Given the description of an element on the screen output the (x, y) to click on. 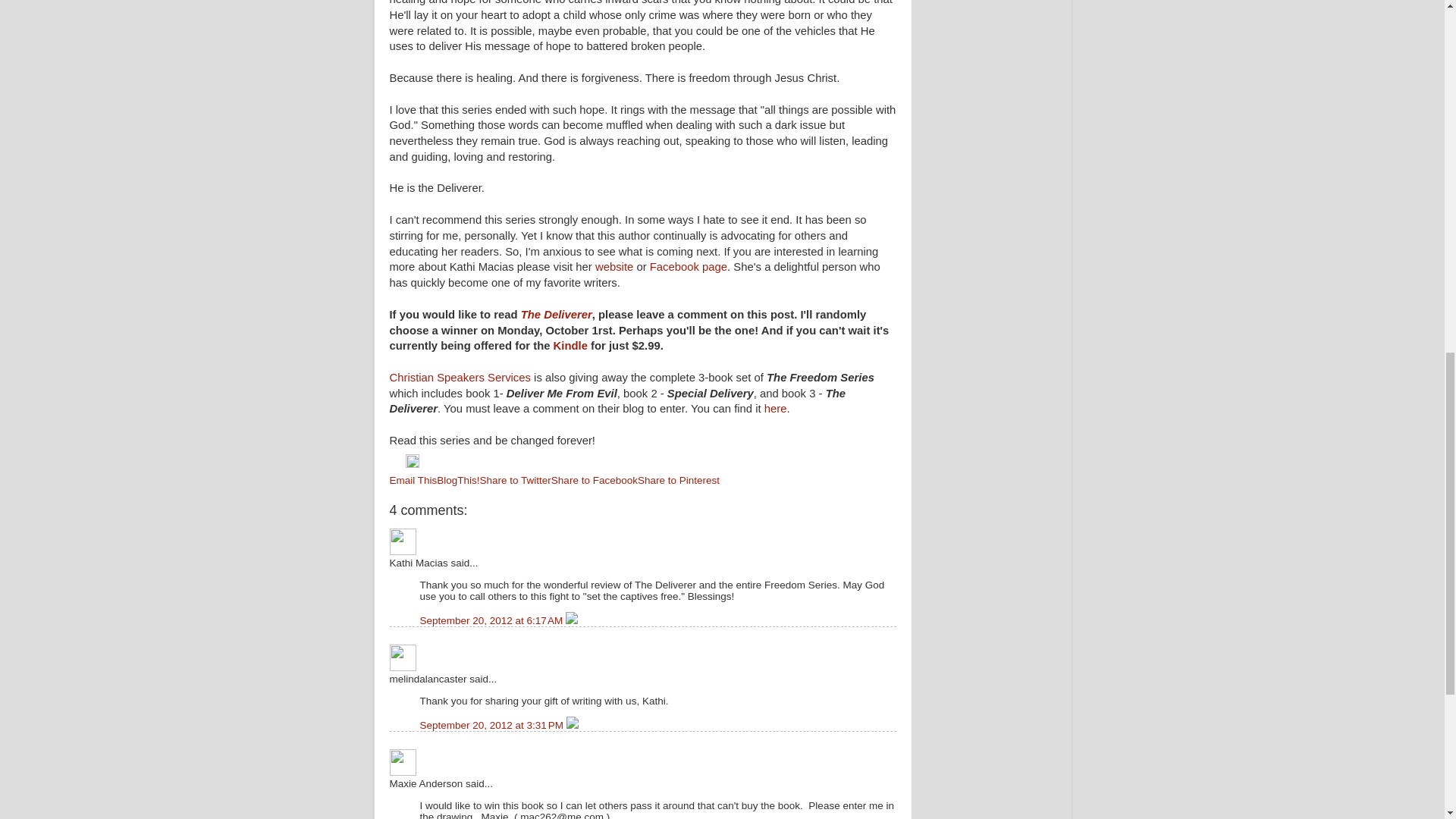
Delete Comment (572, 725)
Share to Facebook (594, 480)
Share to Pinterest (678, 480)
Share to Twitter (515, 480)
Share to Twitter (515, 480)
Facebook page (687, 266)
BlogThis! (457, 480)
Email This (414, 480)
melindalancaster (403, 657)
Email This (414, 480)
